Given the description of an element on the screen output the (x, y) to click on. 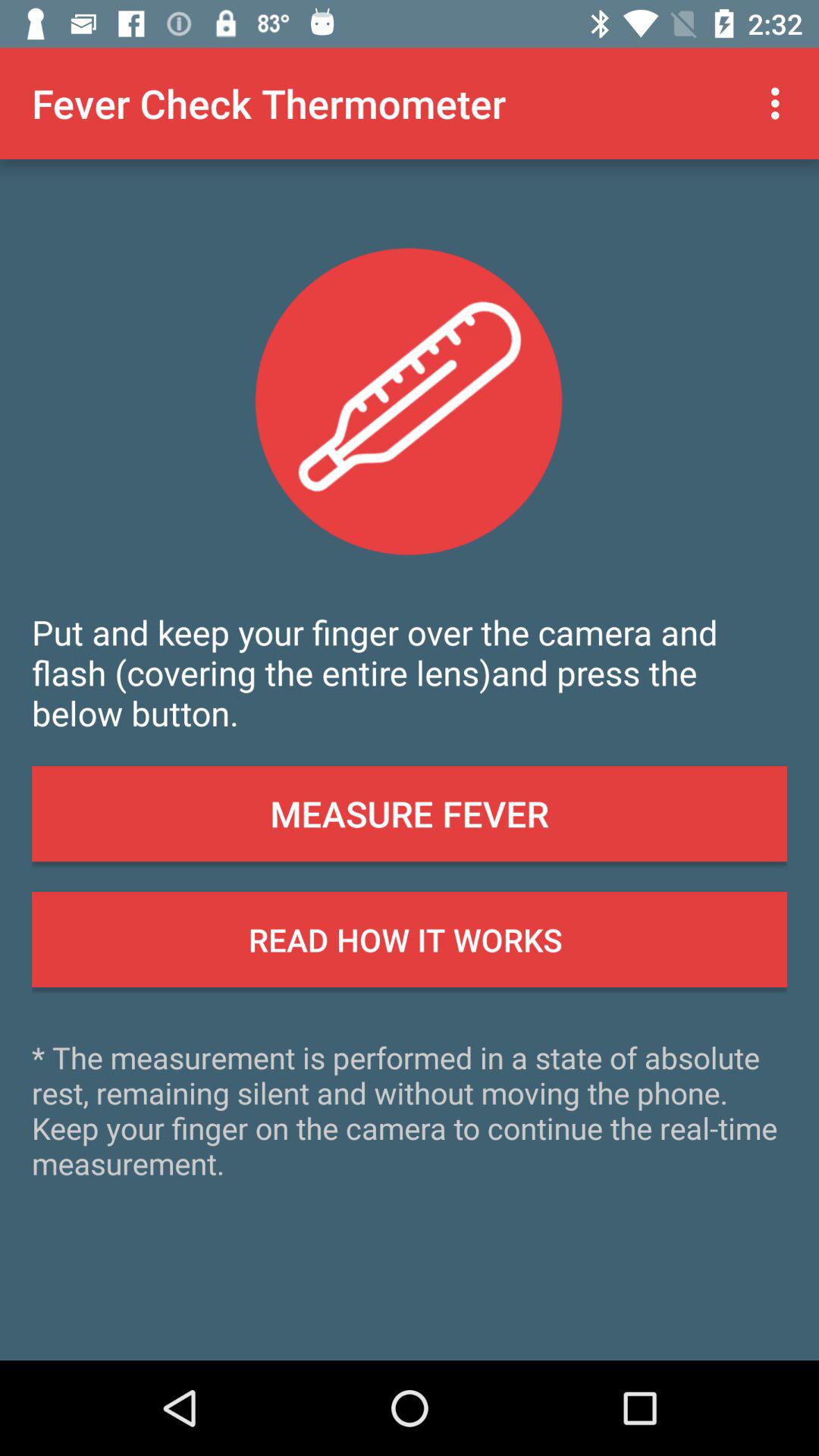
launch the measure fever (409, 813)
